Given the description of an element on the screen output the (x, y) to click on. 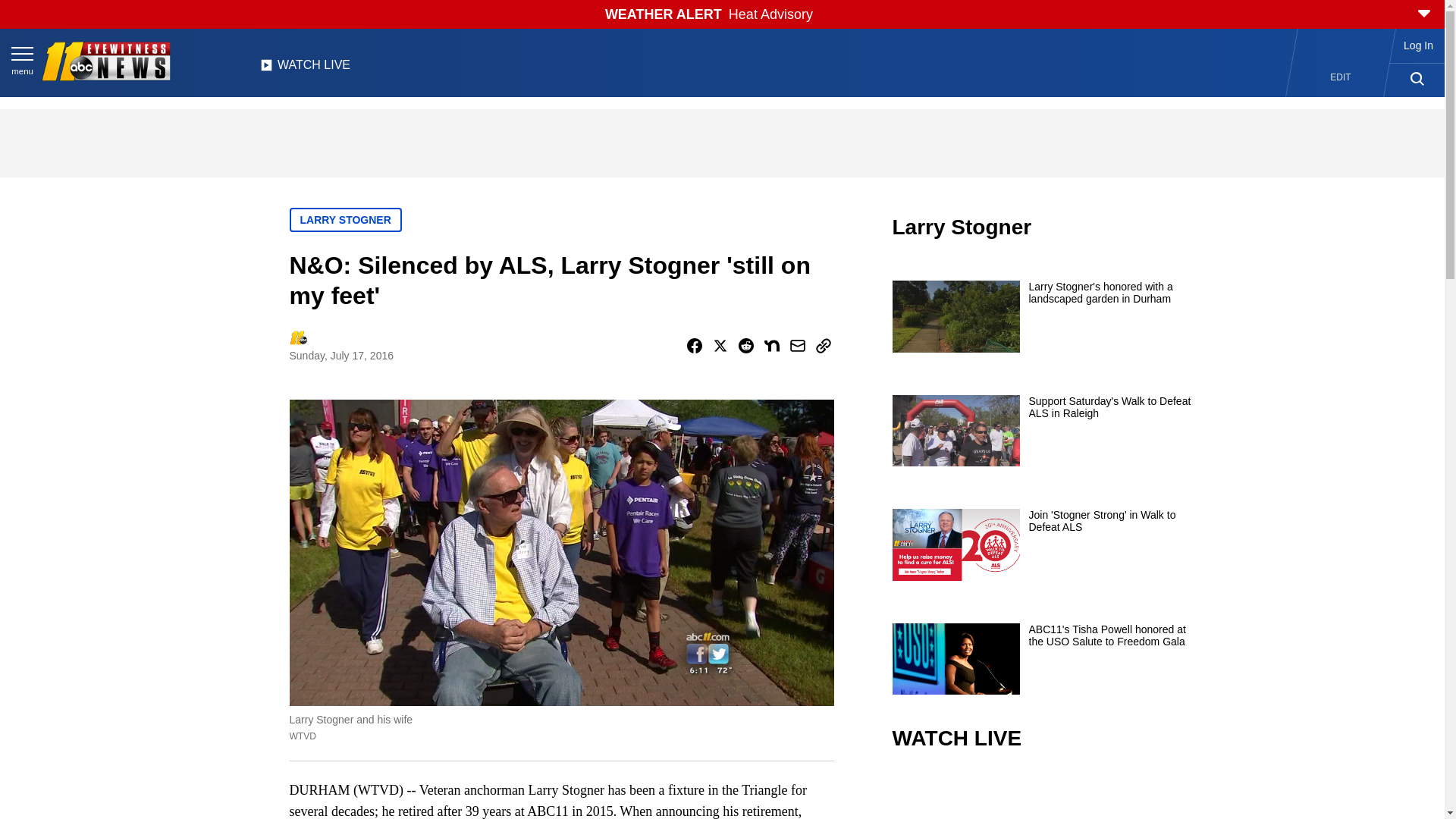
video.title (1043, 796)
WATCH LIVE (305, 69)
EDIT (1340, 77)
